Given the description of an element on the screen output the (x, y) to click on. 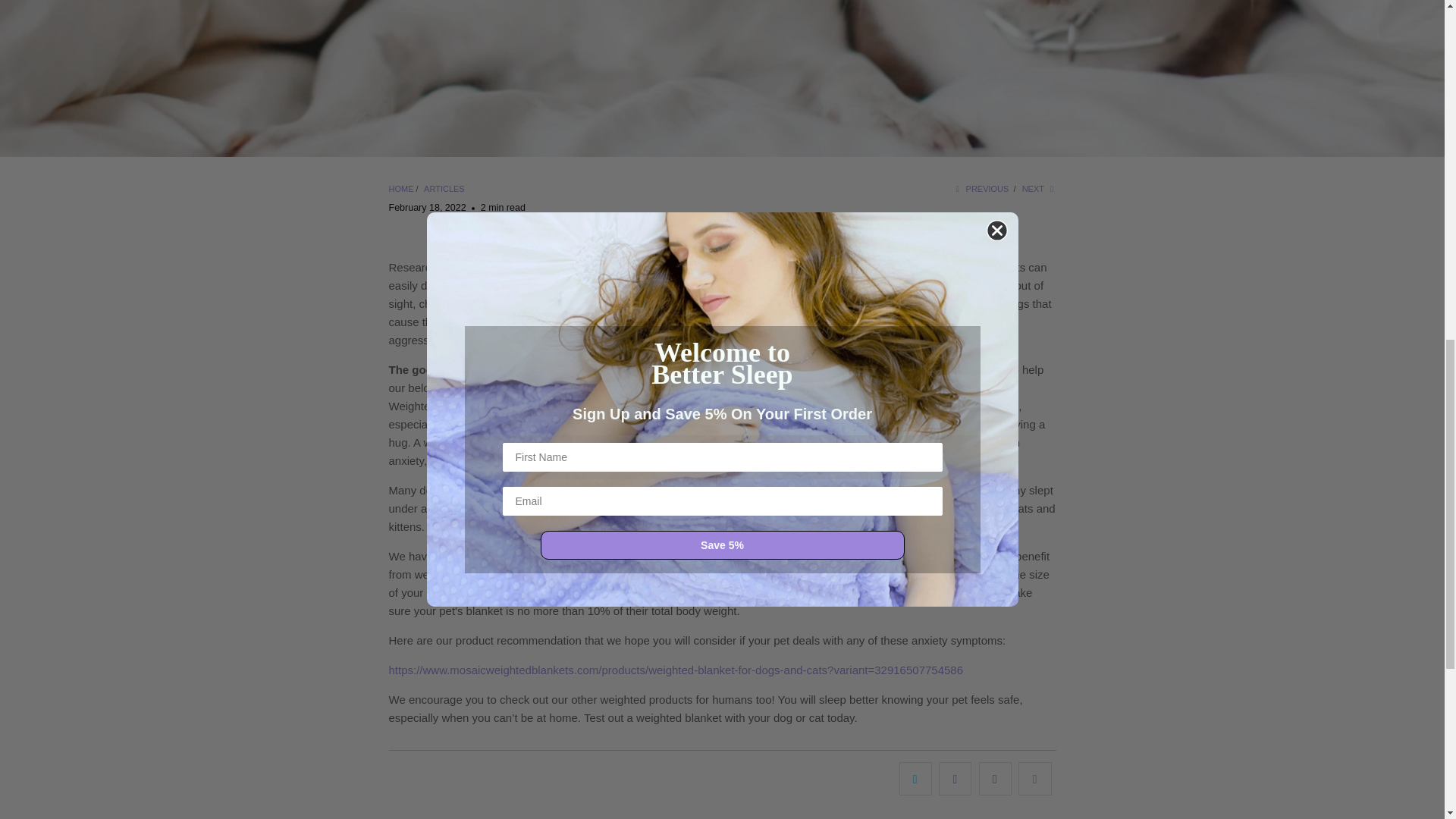
Share this on Twitter (915, 778)
Articles (443, 188)
HOME (400, 188)
Mosaic Weighted Blankets (400, 188)
ARTICLES (443, 188)
PREVIOUS (980, 188)
Share this on Facebook (955, 778)
NEXT (1039, 188)
Email this to a friend (1034, 778)
Share this on Pinterest (994, 778)
